Given the description of an element on the screen output the (x, y) to click on. 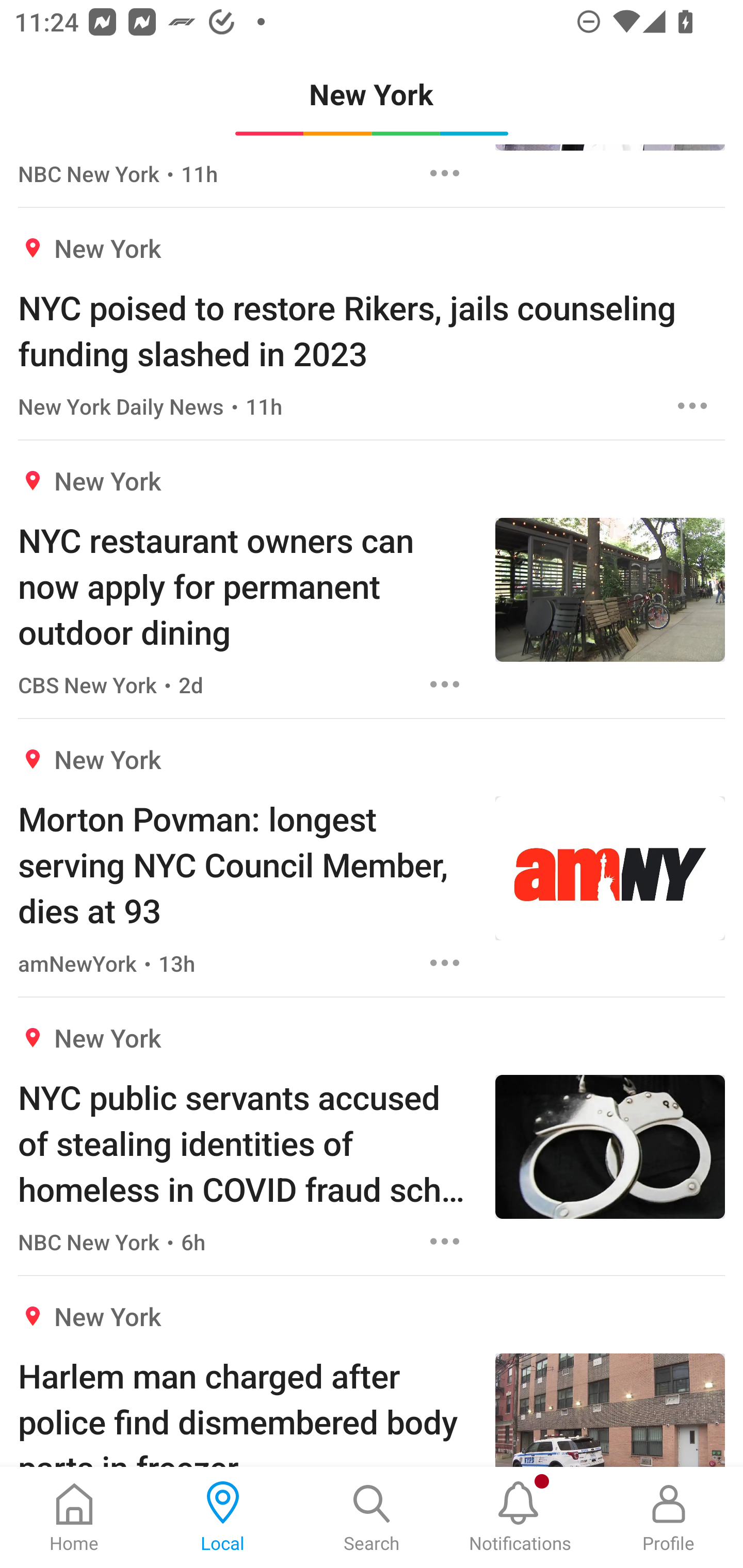
Options (444, 173)
Options (692, 406)
Options (444, 684)
Options (444, 962)
Options (444, 1241)
Home (74, 1517)
Search (371, 1517)
Notifications, New notification Notifications (519, 1517)
Profile (668, 1517)
